Given the description of an element on the screen output the (x, y) to click on. 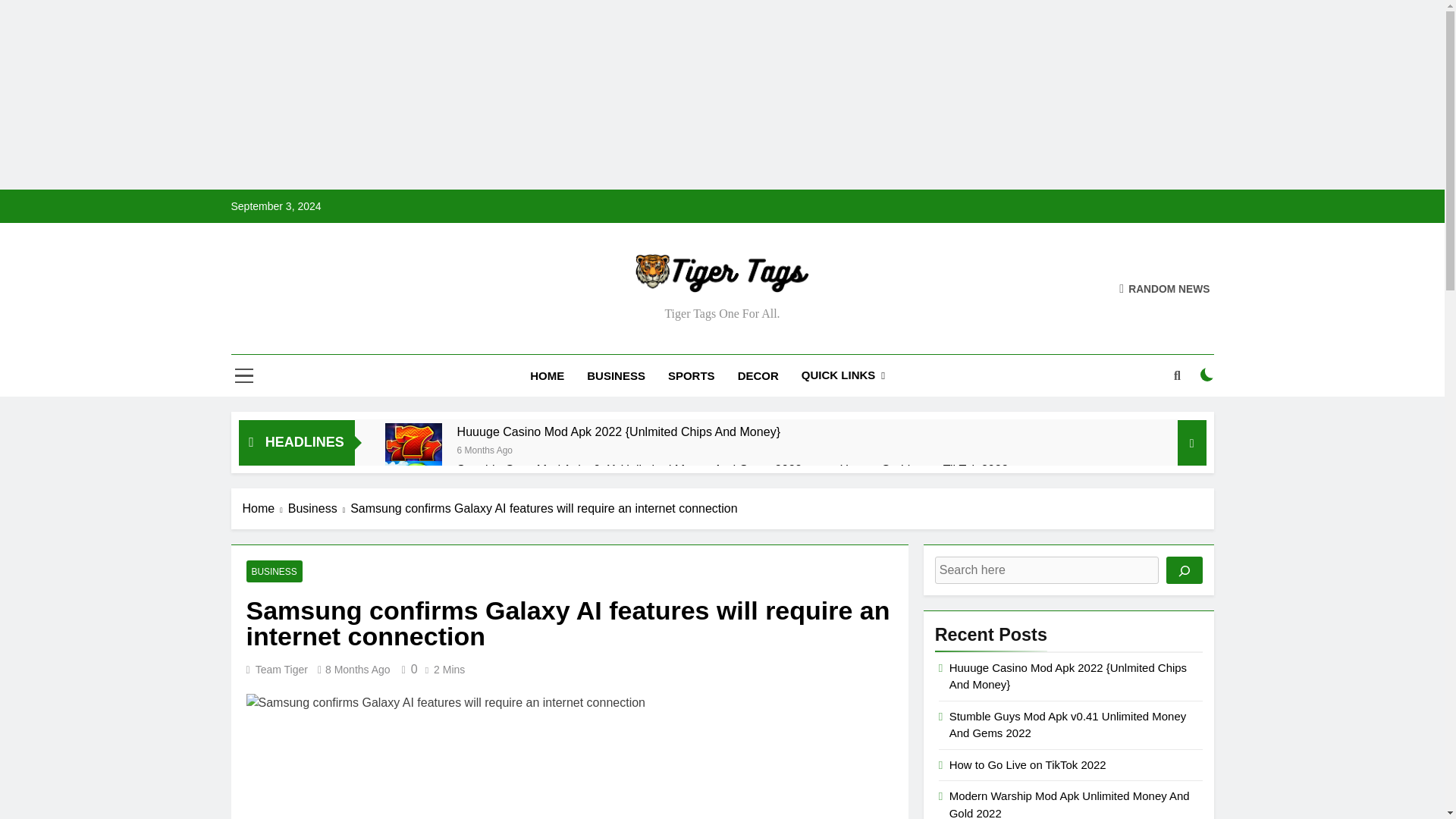
How to Go Live on TikTok 2022 (924, 469)
Stumble Guys Mod Apk v0.41 Unlimited Money And Gems 2022 (629, 469)
RANDOM NEWS (1164, 287)
How to Go Live on TikTok 2022 (924, 469)
BUSINESS (615, 375)
SPORTS (691, 375)
6 Months Ago (484, 449)
Stumble Guys Mod Apk v0.41 Unlimited Money And Gems 2022 (413, 489)
on (1206, 374)
QUICK LINKS (843, 375)
